Given the description of an element on the screen output the (x, y) to click on. 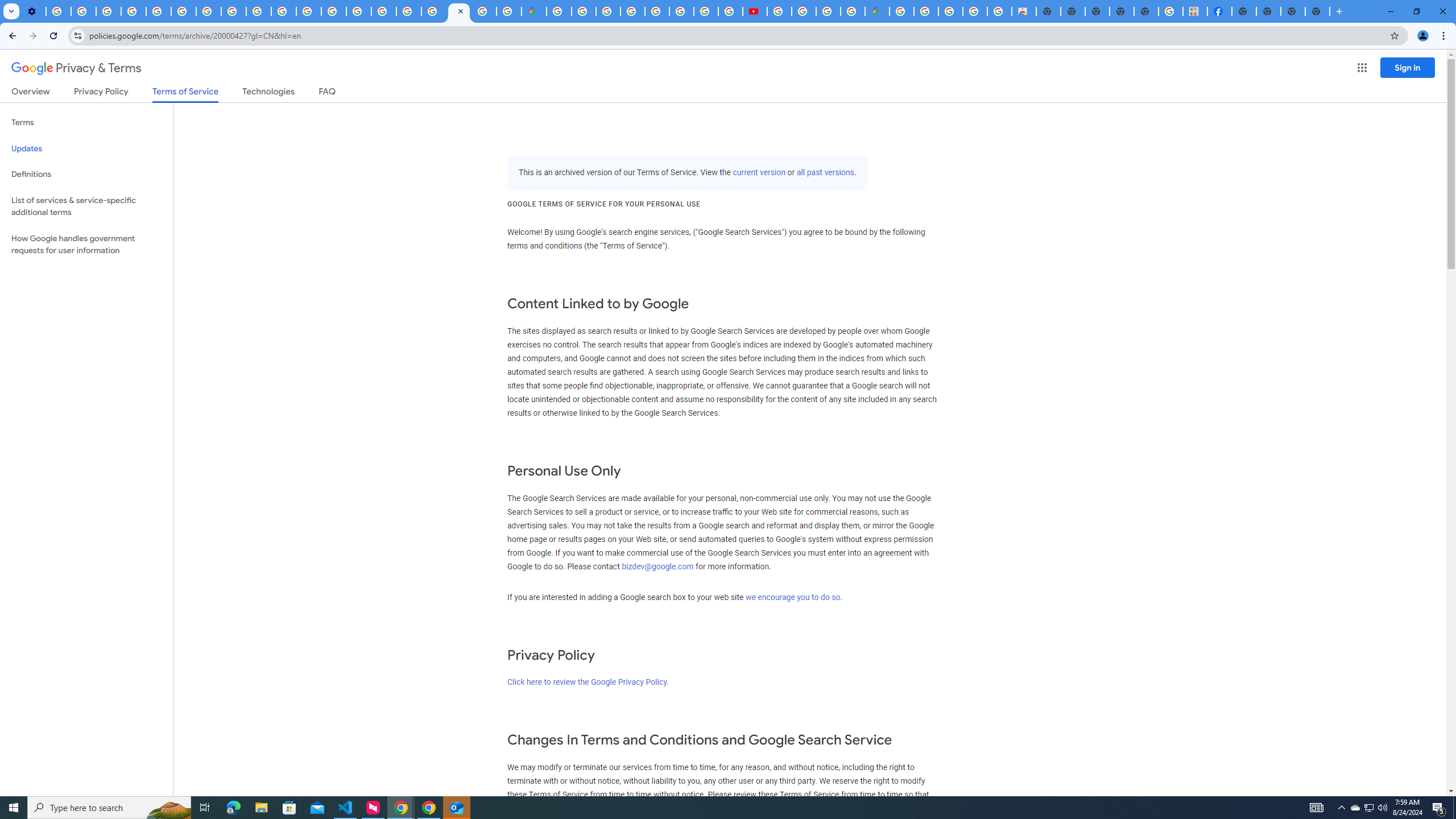
Miley Cyrus | Facebook (1219, 11)
Privacy Checkup (283, 11)
Privacy Checkup (258, 11)
Subscriptions - YouTube (754, 11)
Delete photos & videos - Computer - Google Photos Help (57, 11)
